Given the description of an element on the screen output the (x, y) to click on. 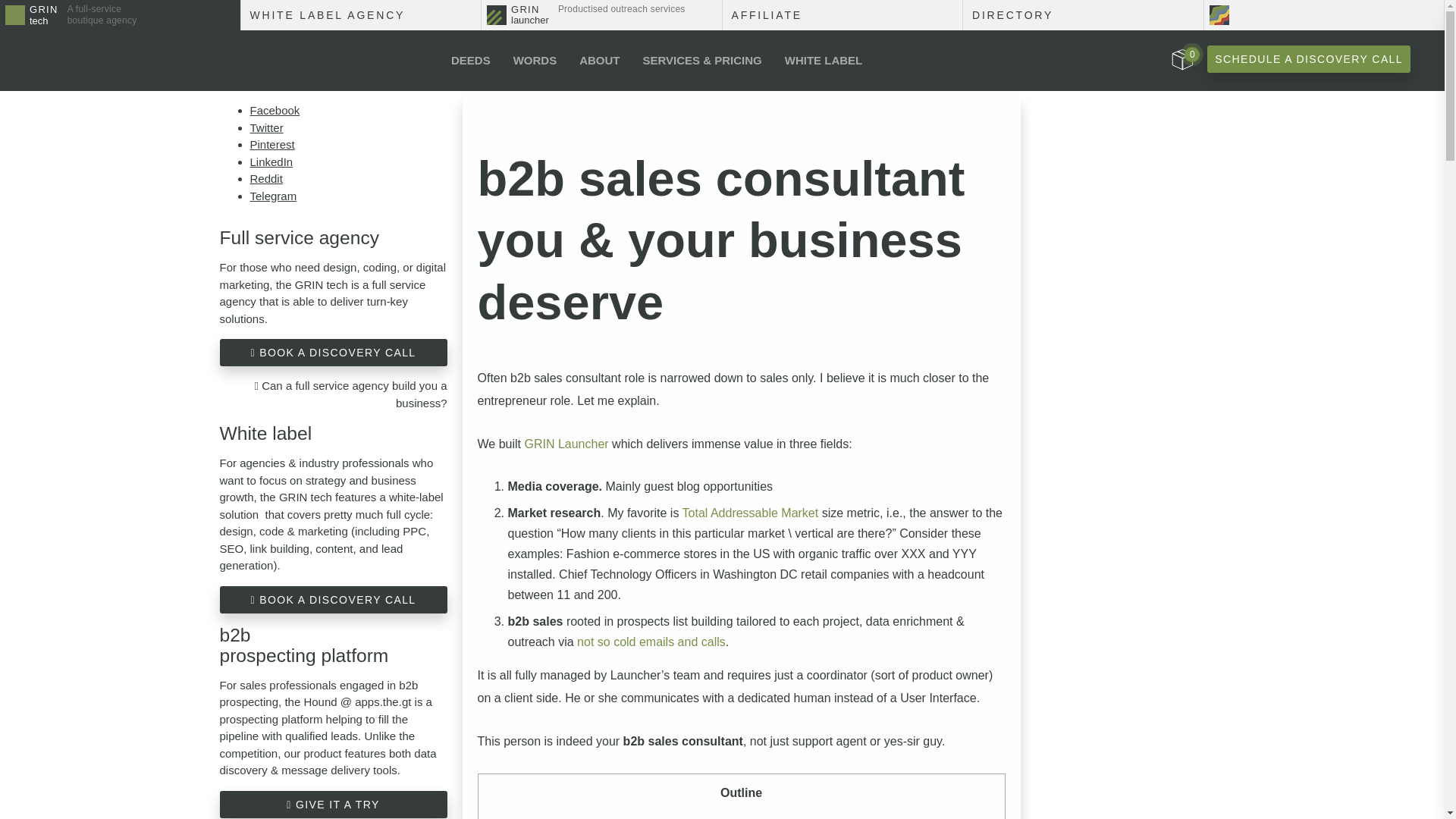
WORDS (535, 60)
ABOUT (598, 60)
AFFILIATE (842, 15)
DEEDS (470, 60)
DIRECTORY (601, 15)
WHITE LABEL (1083, 15)
0 (824, 60)
WHITE LABEL AGENCY (120, 15)
SCHEDULE A DISCOVERY CALL (1182, 58)
